Given the description of an element on the screen output the (x, y) to click on. 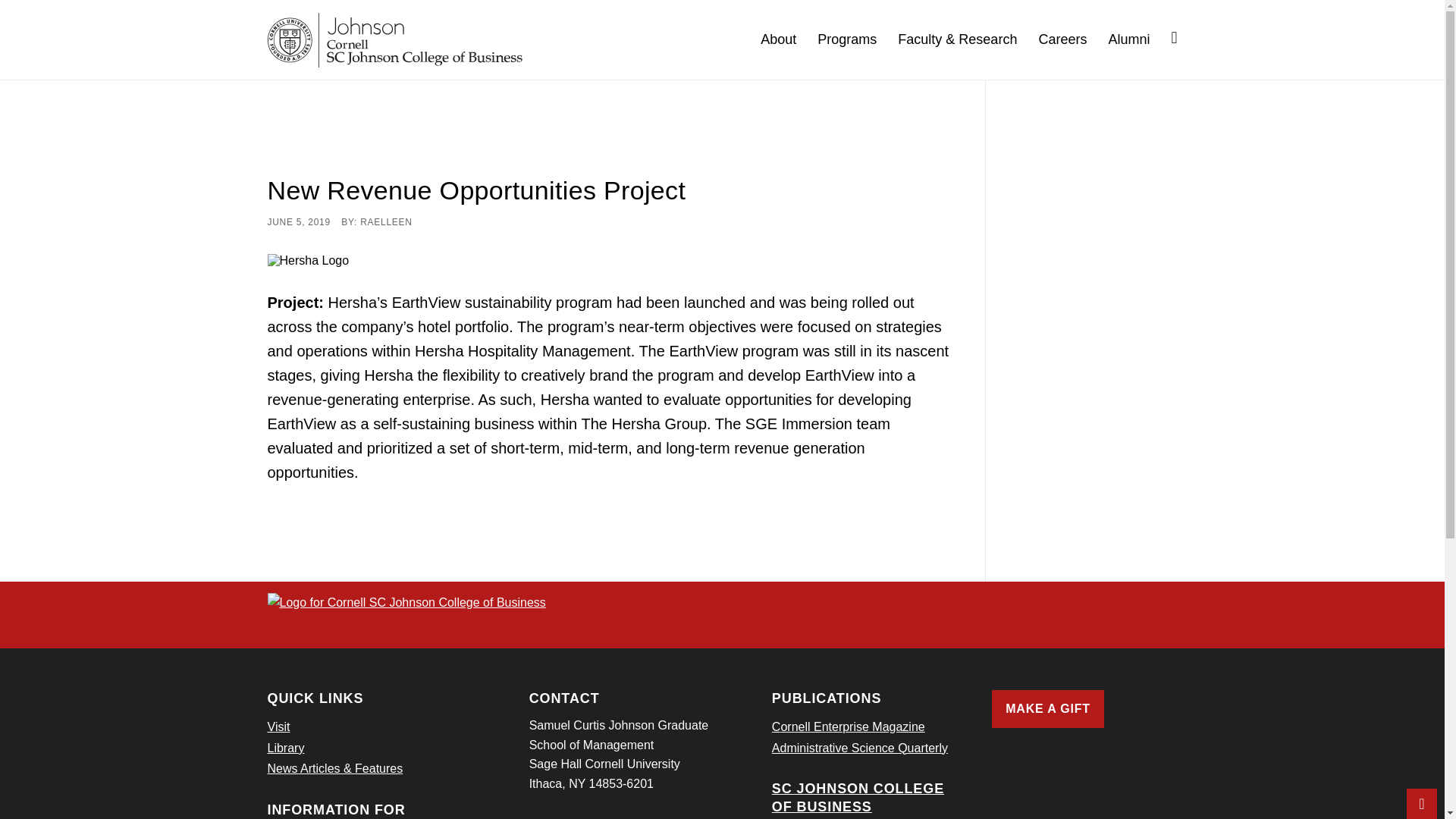
Alumni (1139, 39)
Johnson Alumni (1139, 39)
Johnson Careers (1073, 39)
Back to top of page. (1421, 803)
About (788, 39)
Careers (1073, 39)
Programs (857, 39)
Library (285, 748)
Visit (277, 726)
